Given the description of an element on the screen output the (x, y) to click on. 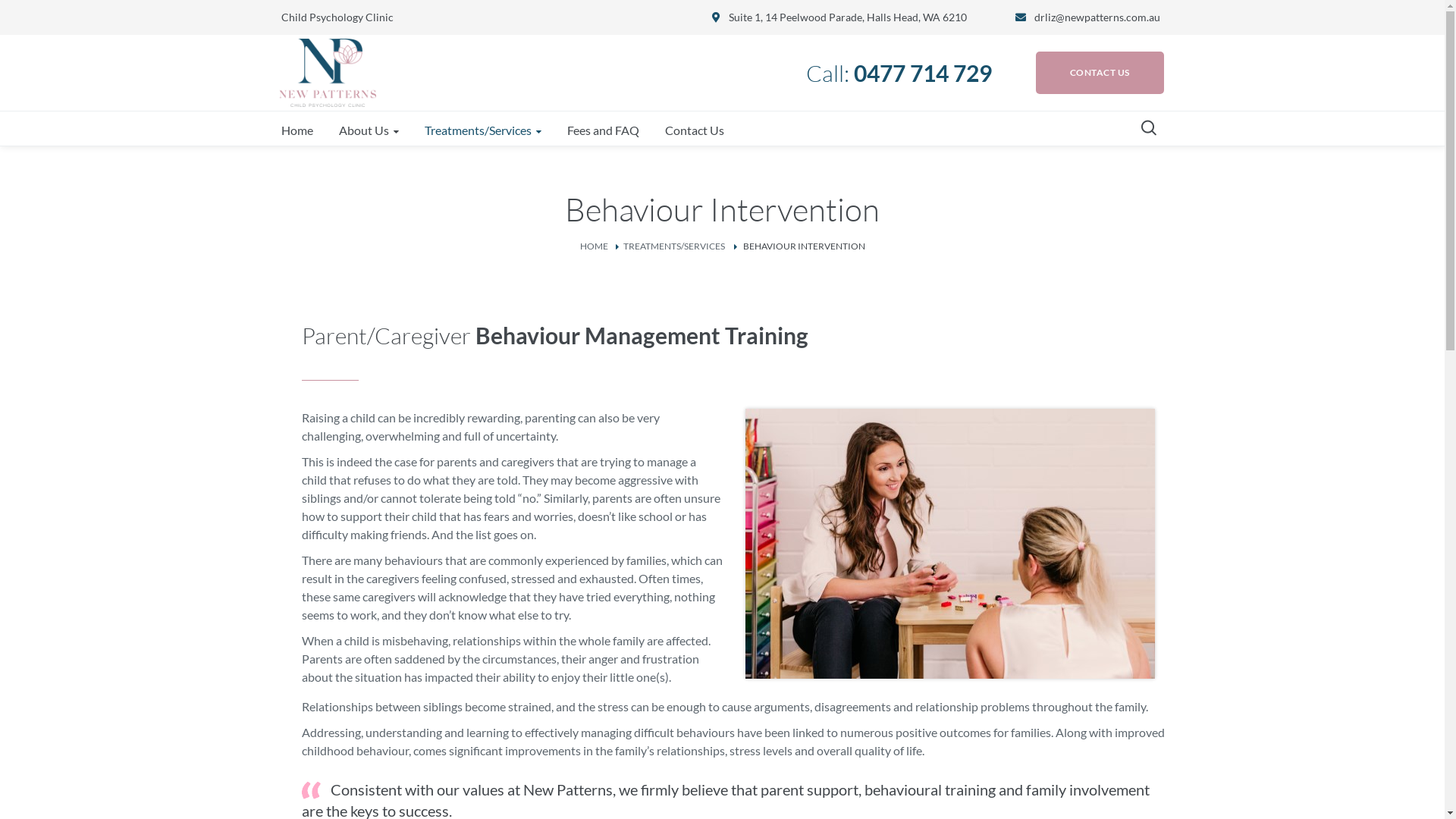
TREATMENTS/SERVICES Element type: text (673, 245)
drliz@newpatterns.com.au Element type: text (1097, 16)
About Us Element type: text (368, 130)
Search Element type: text (1155, 173)
Contact Us Element type: text (693, 130)
CONTACT US Element type: text (1099, 72)
Home Element type: text (296, 130)
Search Element type: text (1155, 27)
Fees and FAQ Element type: text (603, 130)
Territory.Meets.New.Patterns.Playroom-13 Element type: hover (949, 543)
HOME Element type: text (593, 245)
Treatments/Services Element type: text (482, 130)
